Given the description of an element on the screen output the (x, y) to click on. 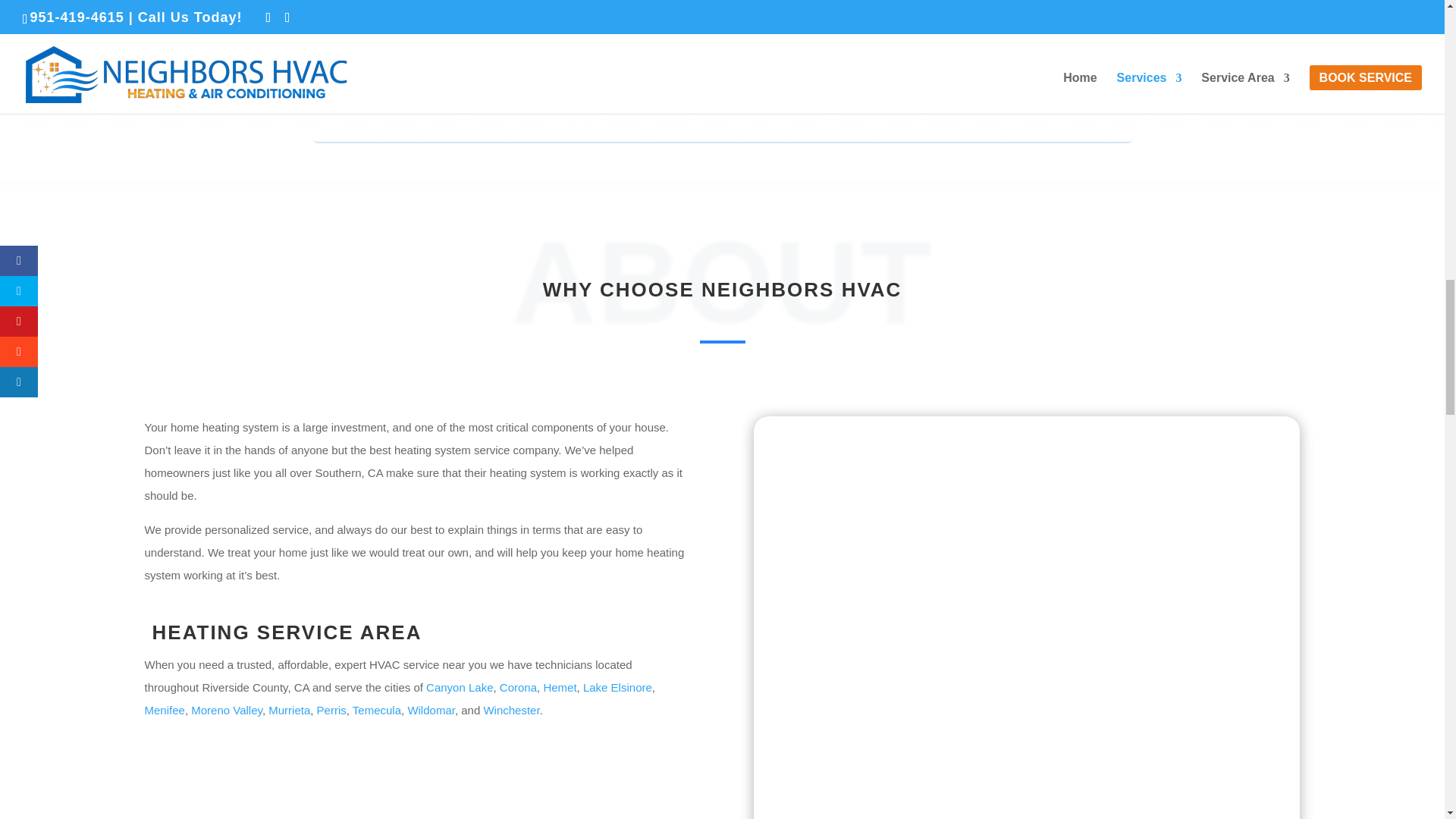
Learn More (397, 61)
Canyon Lake (459, 686)
